Given the description of an element on the screen output the (x, y) to click on. 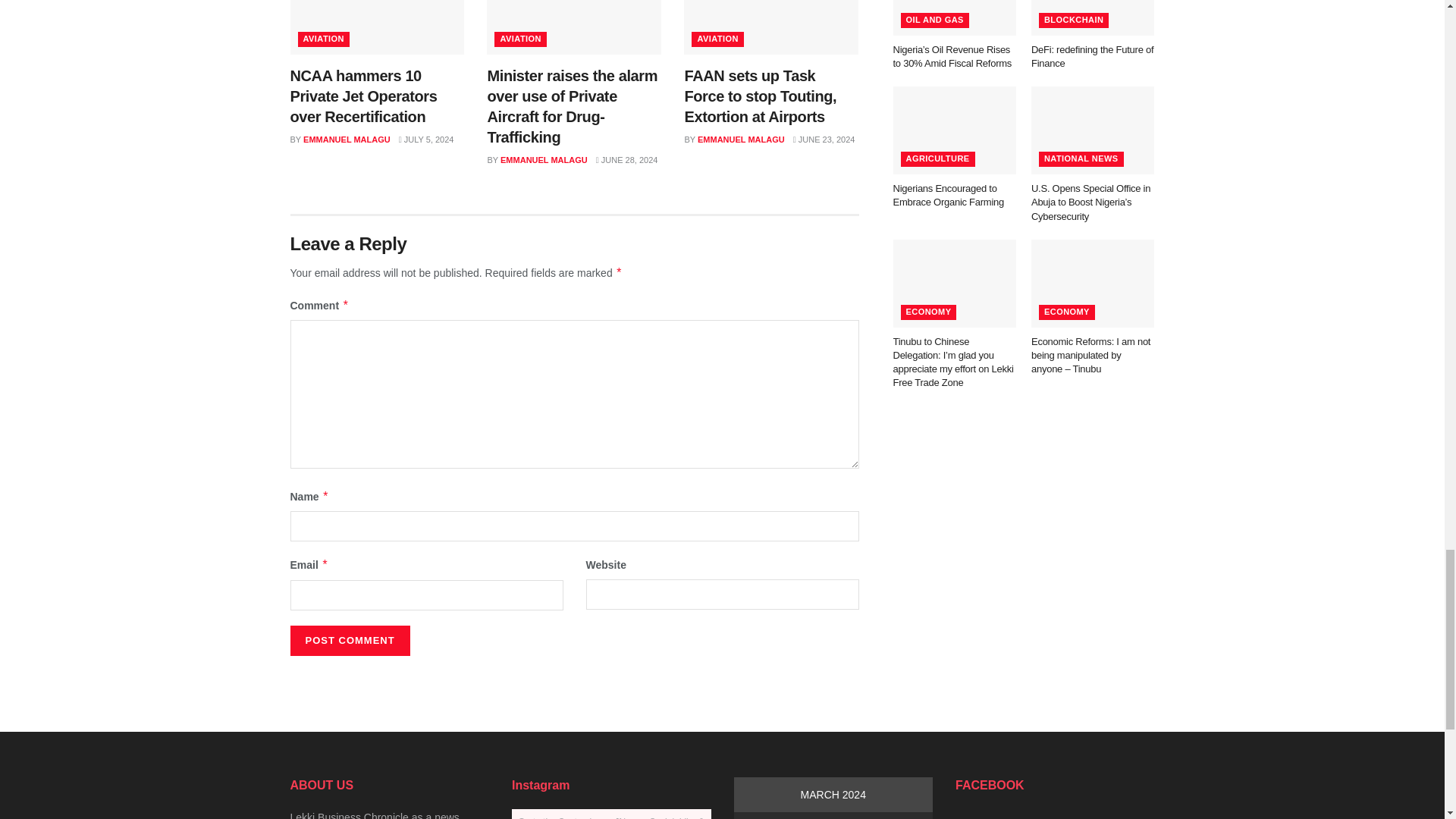
Post Comment (349, 640)
Monday (747, 815)
Friday (861, 815)
Tuesday (775, 815)
Thursday (832, 815)
Wednesday (804, 815)
